Given the description of an element on the screen output the (x, y) to click on. 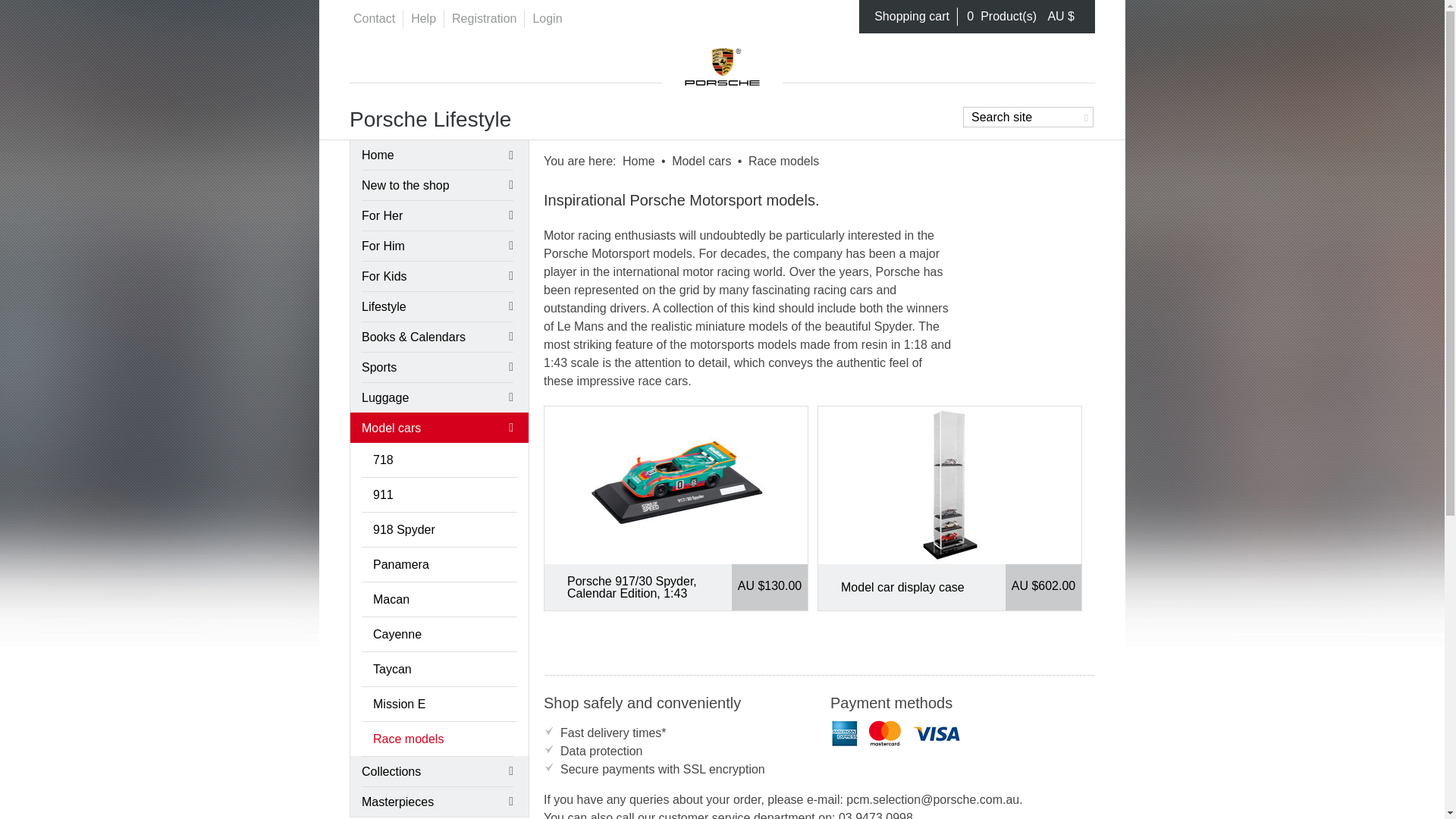
Registration (483, 18)
Model cars (700, 160)
Lifestyle (437, 306)
Home (437, 154)
New to the shop (437, 184)
For Her (437, 214)
Home (721, 61)
For Kids (437, 276)
Search site (1027, 117)
Login (547, 18)
submit (1084, 114)
For Him (437, 245)
Home (639, 160)
Contact (373, 18)
Help (422, 18)
